Given the description of an element on the screen output the (x, y) to click on. 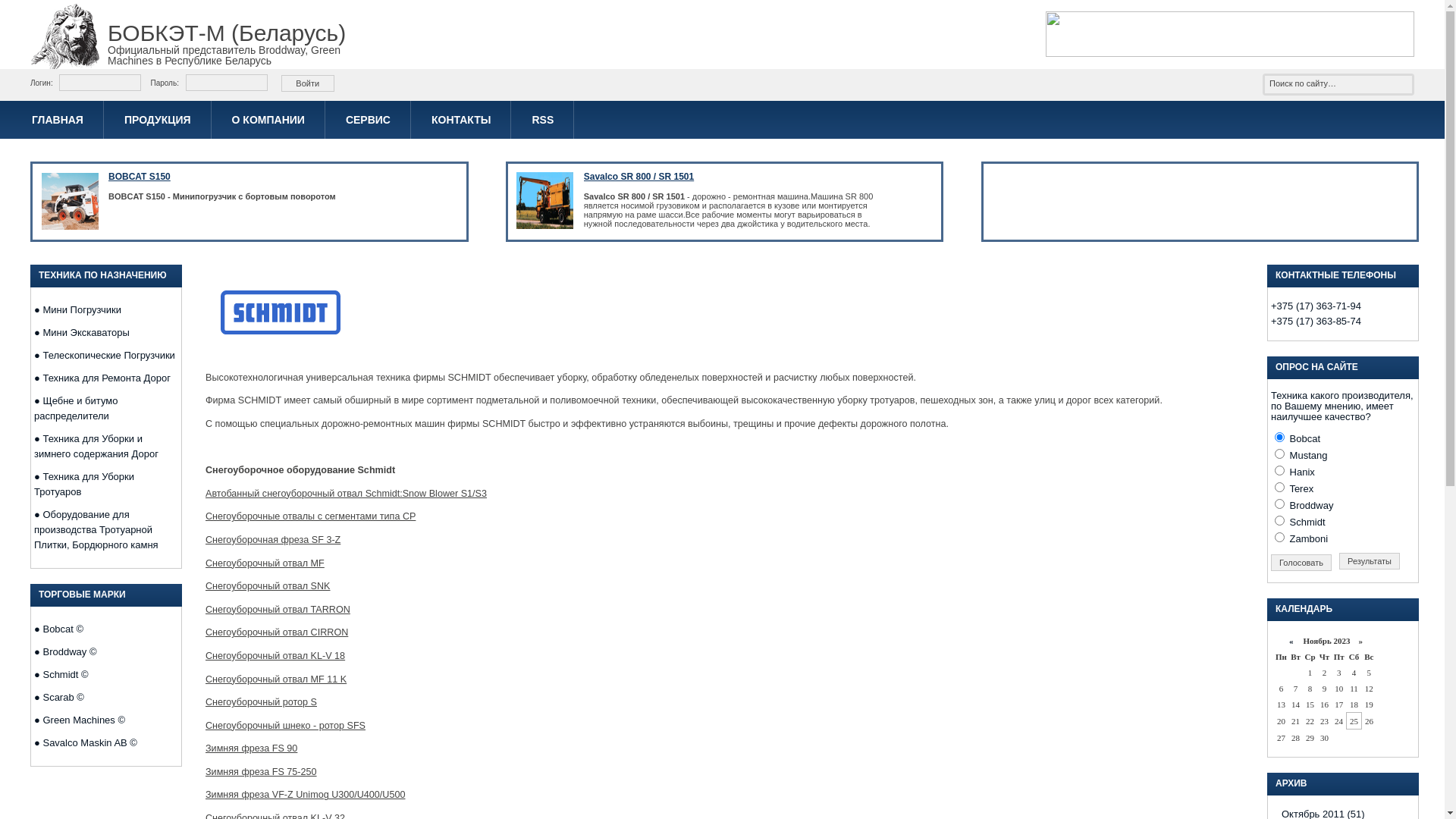
Savalco SR 800 / SR 1501 Element type: text (638, 176)
BOBCAT S150 Element type: text (139, 176)
RSS Element type: text (542, 119)
